Given the description of an element on the screen output the (x, y) to click on. 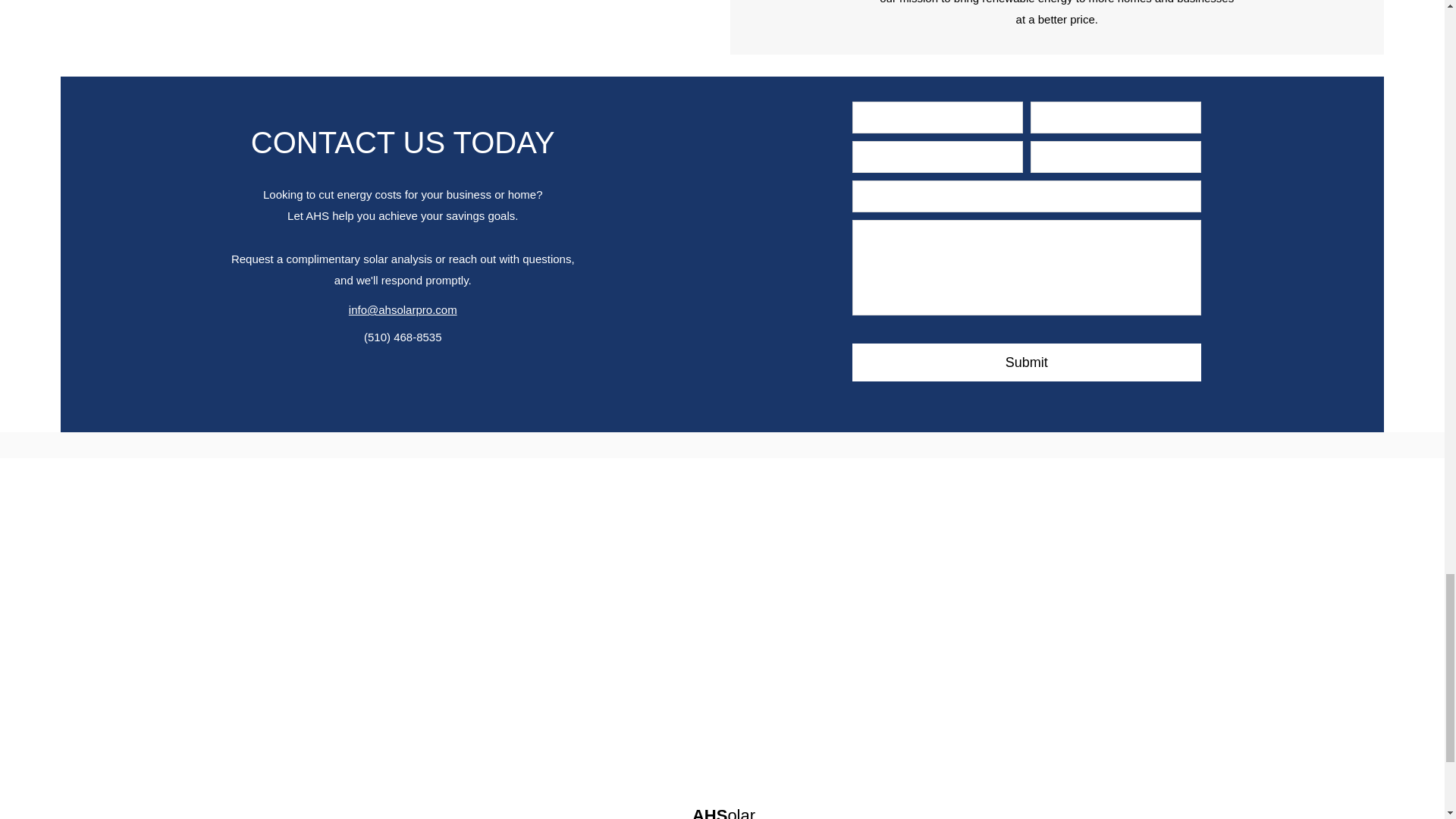
Submit (1026, 362)
